Given the description of an element on the screen output the (x, y) to click on. 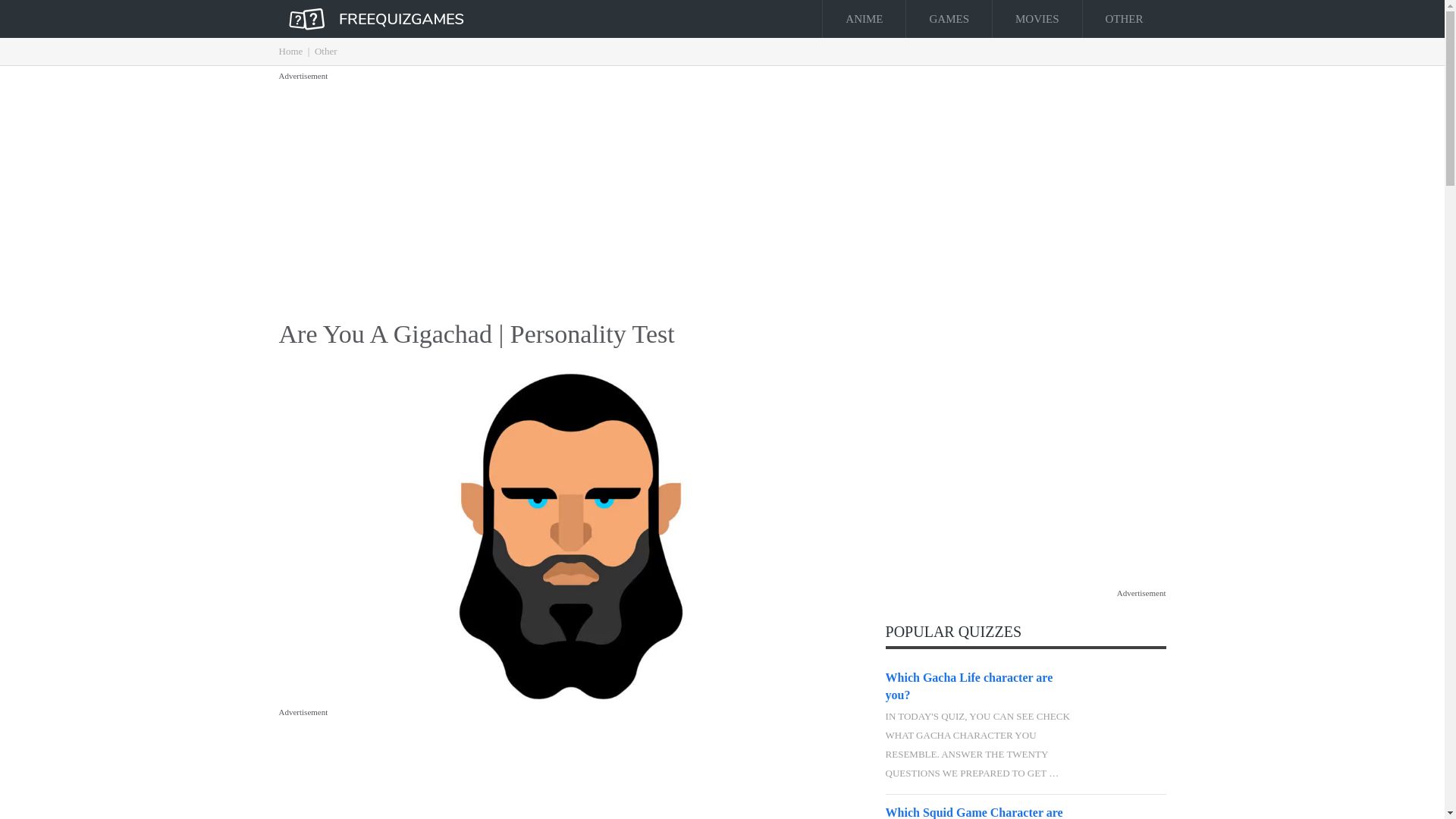
OTHER (1124, 18)
Which Gacha Life character are you? (980, 686)
Which Squid Game Character are you? (980, 811)
Which Squid Game Character are you? (1128, 812)
Which Gacha Life character are you? (1128, 696)
MOVIES (1036, 18)
Other (325, 50)
Home (290, 50)
Which Gacha Life character are you? (980, 686)
GAMES (948, 18)
